Given the description of an element on the screen output the (x, y) to click on. 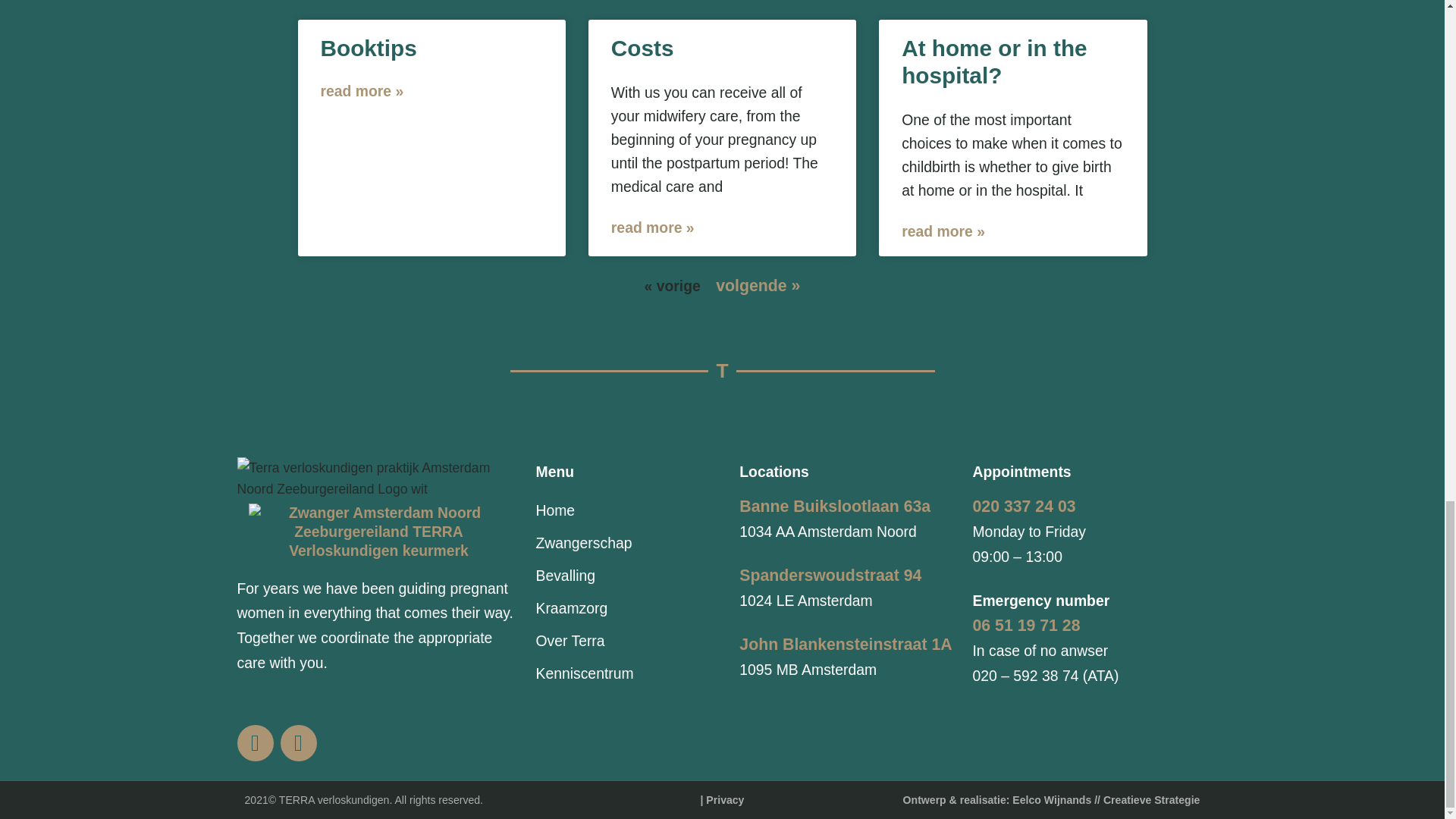
John Blankensteinstraat 1A (845, 644)
Costs (642, 48)
Bevalling (629, 575)
06 51 19 71 28 (1026, 625)
At home or in the hospital? (993, 61)
Home (629, 510)
Zwangerschap (629, 543)
Kraamzorg (629, 608)
